Given the description of an element on the screen output the (x, y) to click on. 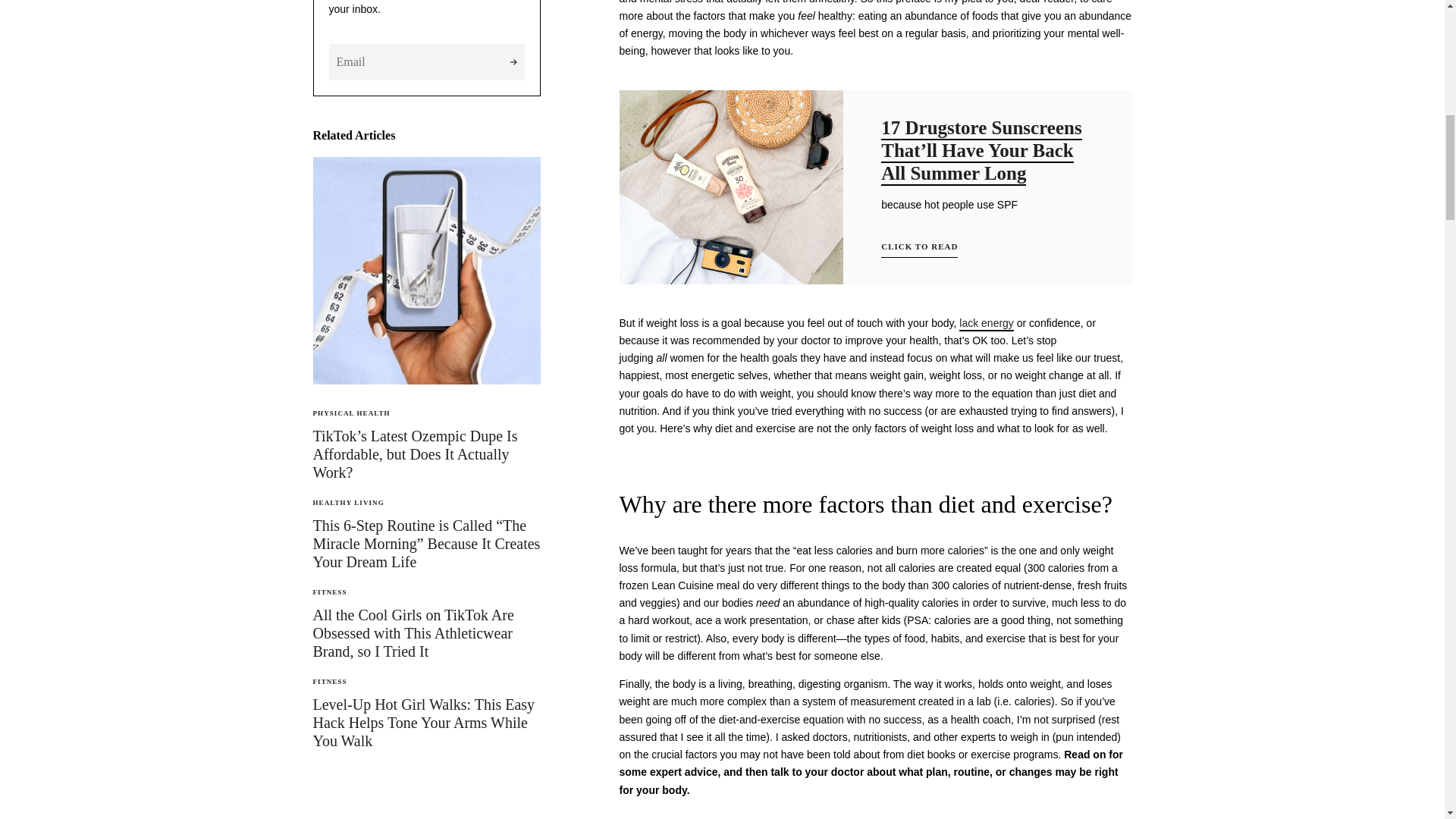
Subscribe (513, 62)
